Given the description of an element on the screen output the (x, y) to click on. 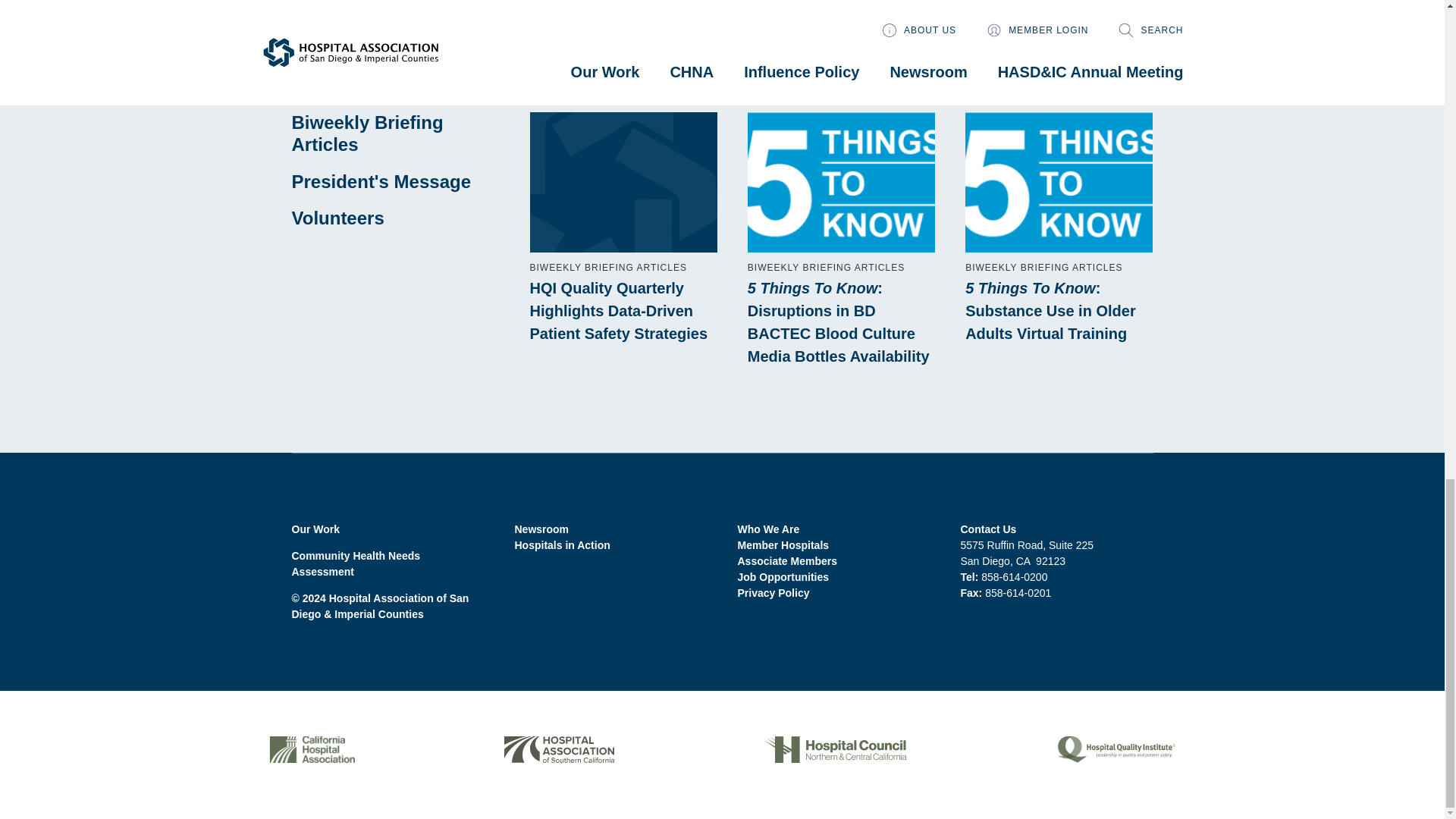
President's Message (380, 181)
Volunteers (337, 218)
Job Opportunities (782, 576)
Our Work (315, 529)
Newsroom (541, 529)
Who We Are (767, 529)
Hospitals in Action (561, 544)
Member Hospitals (782, 544)
Associate Members (786, 561)
Biweekly Briefing Articles (366, 133)
Privacy Policy (772, 592)
Community Health Needs Assessment (355, 563)
